Given the description of an element on the screen output the (x, y) to click on. 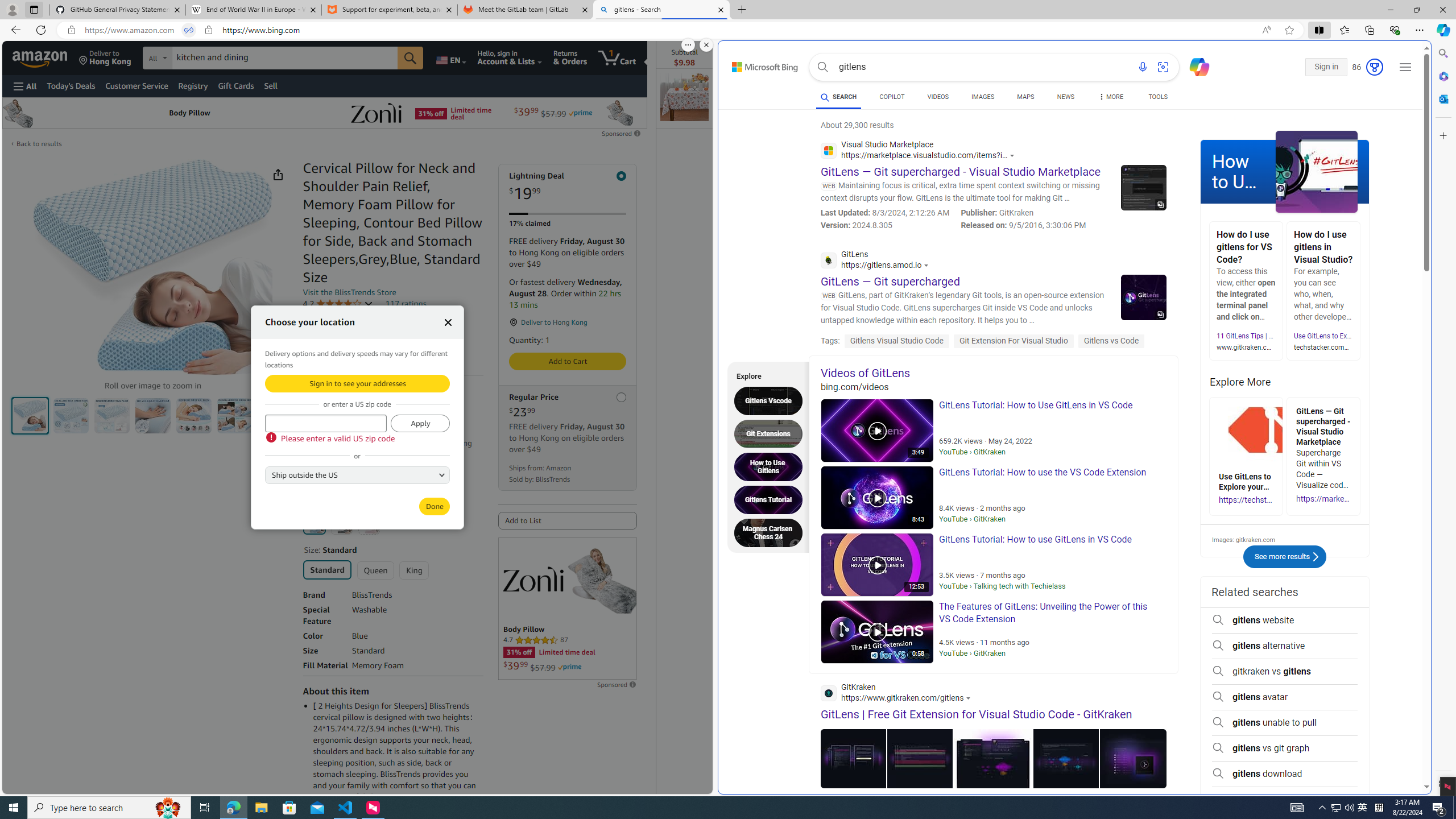
Sustainability features 1 sustainability feature  (356, 350)
gitlens download (1283, 773)
AutomationID: mfa_root (1383, 752)
Open Menu (25, 86)
GitHub General Privacy Statement - GitHub Docs (117, 9)
Git Extensions (771, 433)
King (414, 570)
Meet the GitLab team | GitLab (525, 9)
Videos of GitLens (993, 372)
